Given the description of an element on the screen output the (x, y) to click on. 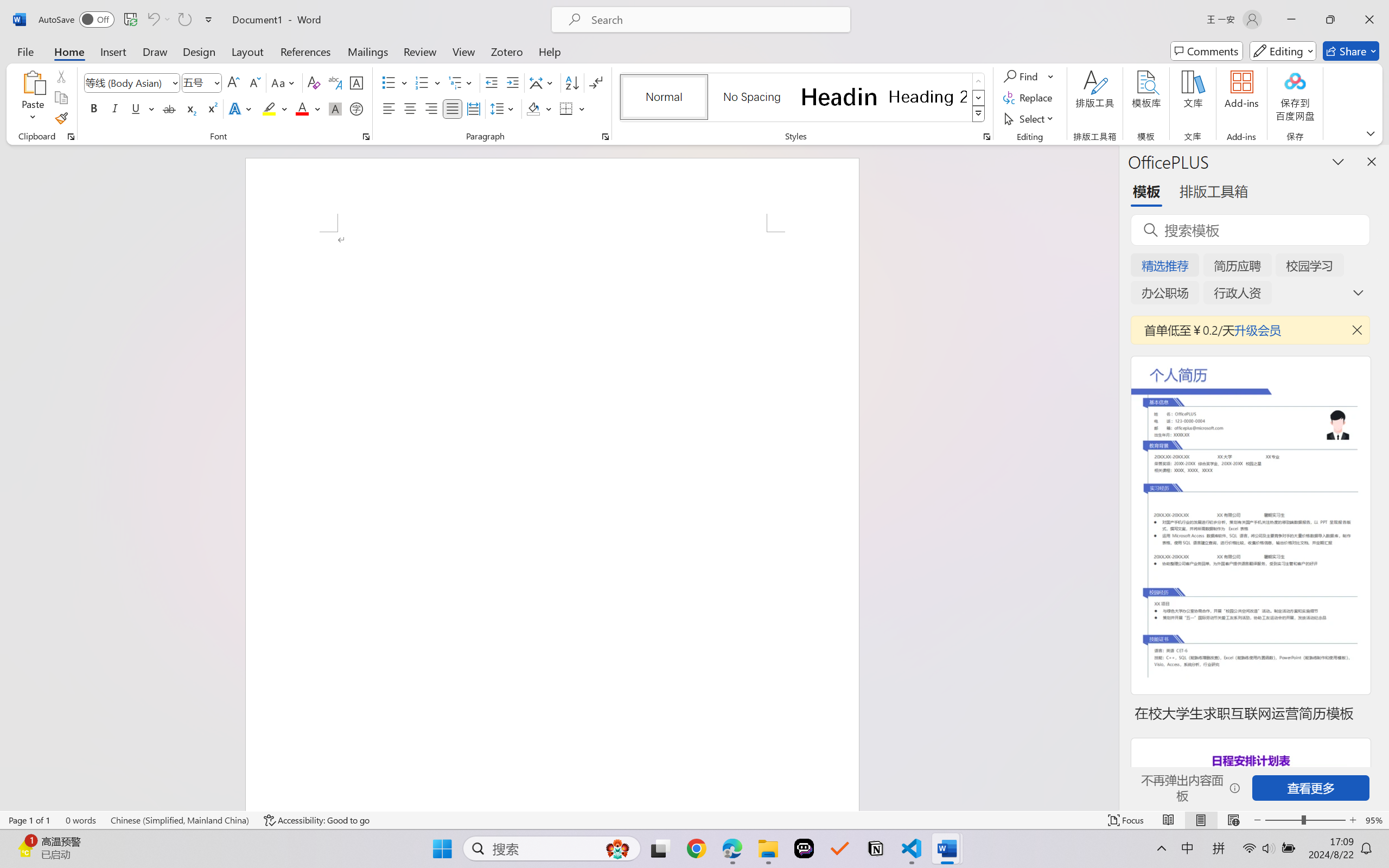
Page 1 content (552, 521)
Can't Repeat (184, 19)
